Given the description of an element on the screen output the (x, y) to click on. 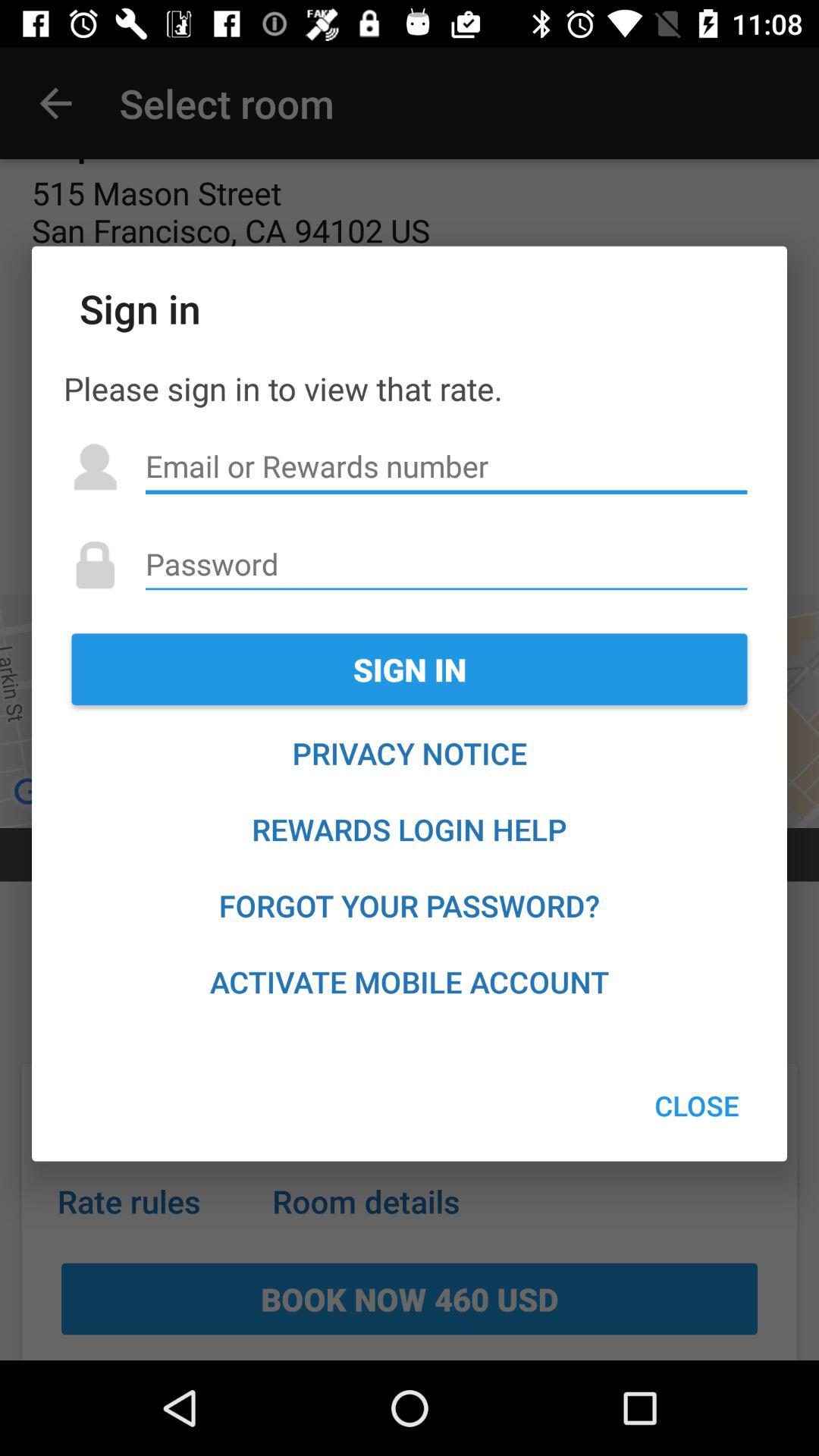
choose the close item (696, 1105)
